Given the description of an element on the screen output the (x, y) to click on. 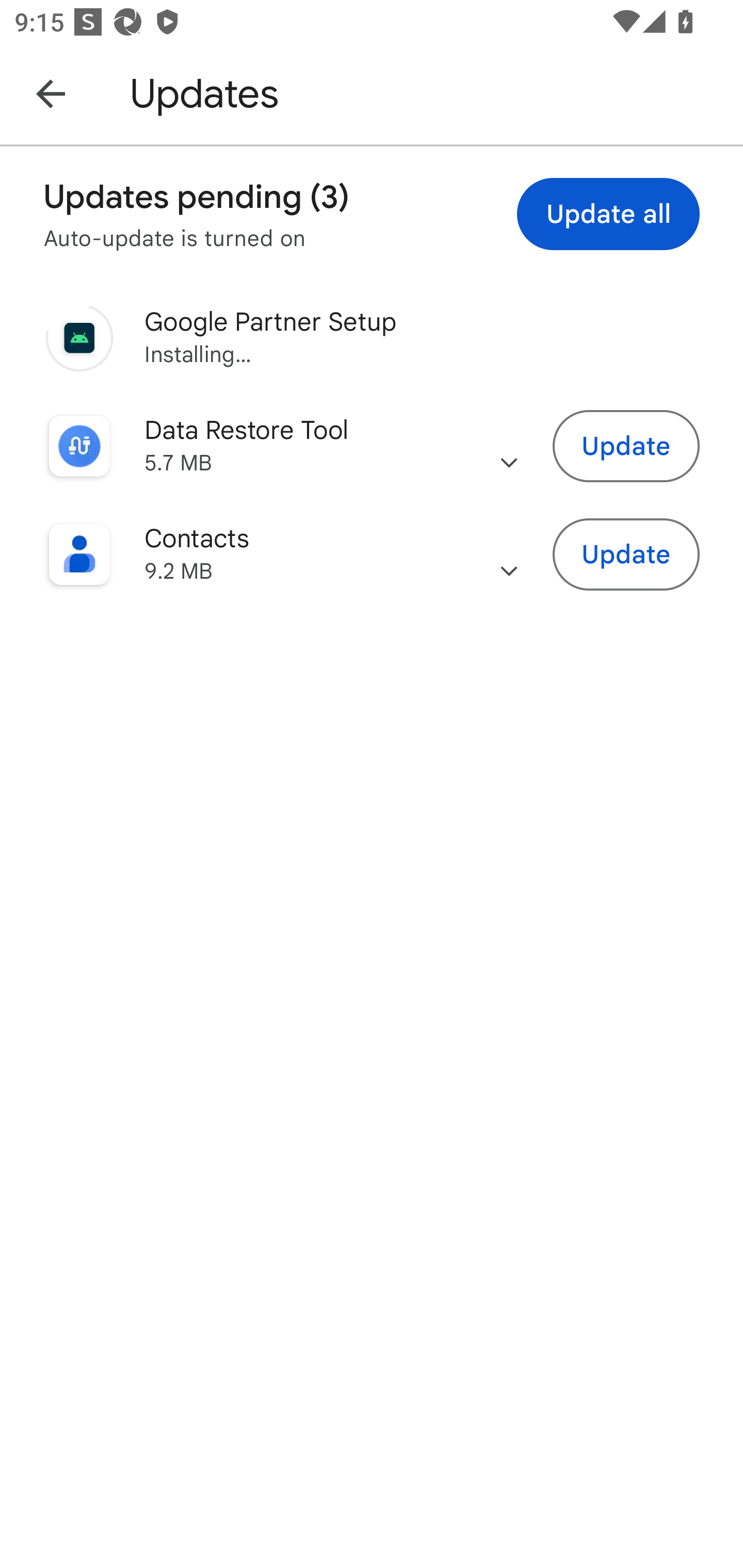
Navigate up (50, 92)
Update all (608, 213)
Changes in the app (508, 446)
Update (625, 446)
Changes in the app (508, 554)
Update (625, 555)
